Given the description of an element on the screen output the (x, y) to click on. 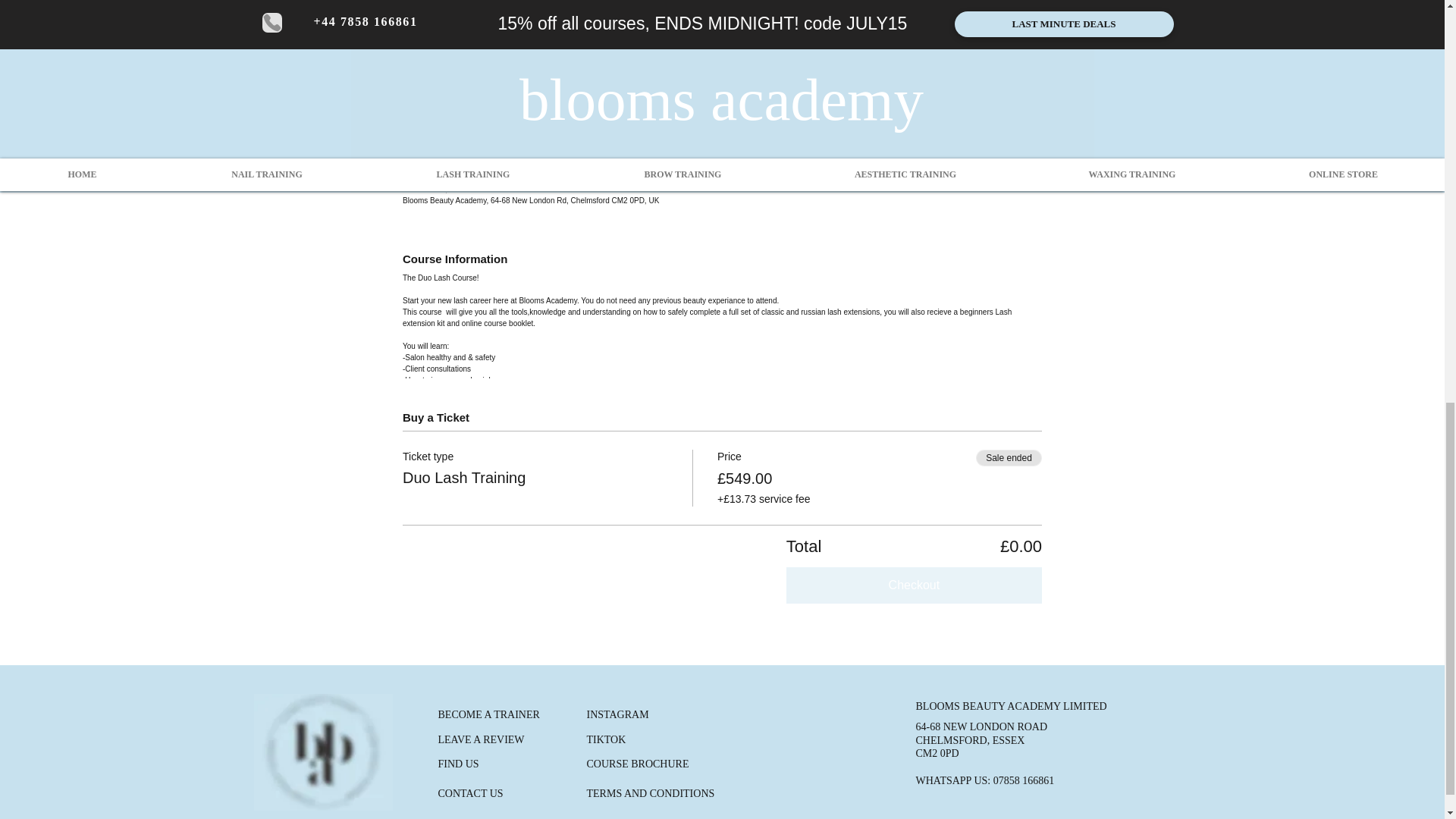
BECOME A TRAINER (489, 714)
Checkout (914, 585)
